Given the description of an element on the screen output the (x, y) to click on. 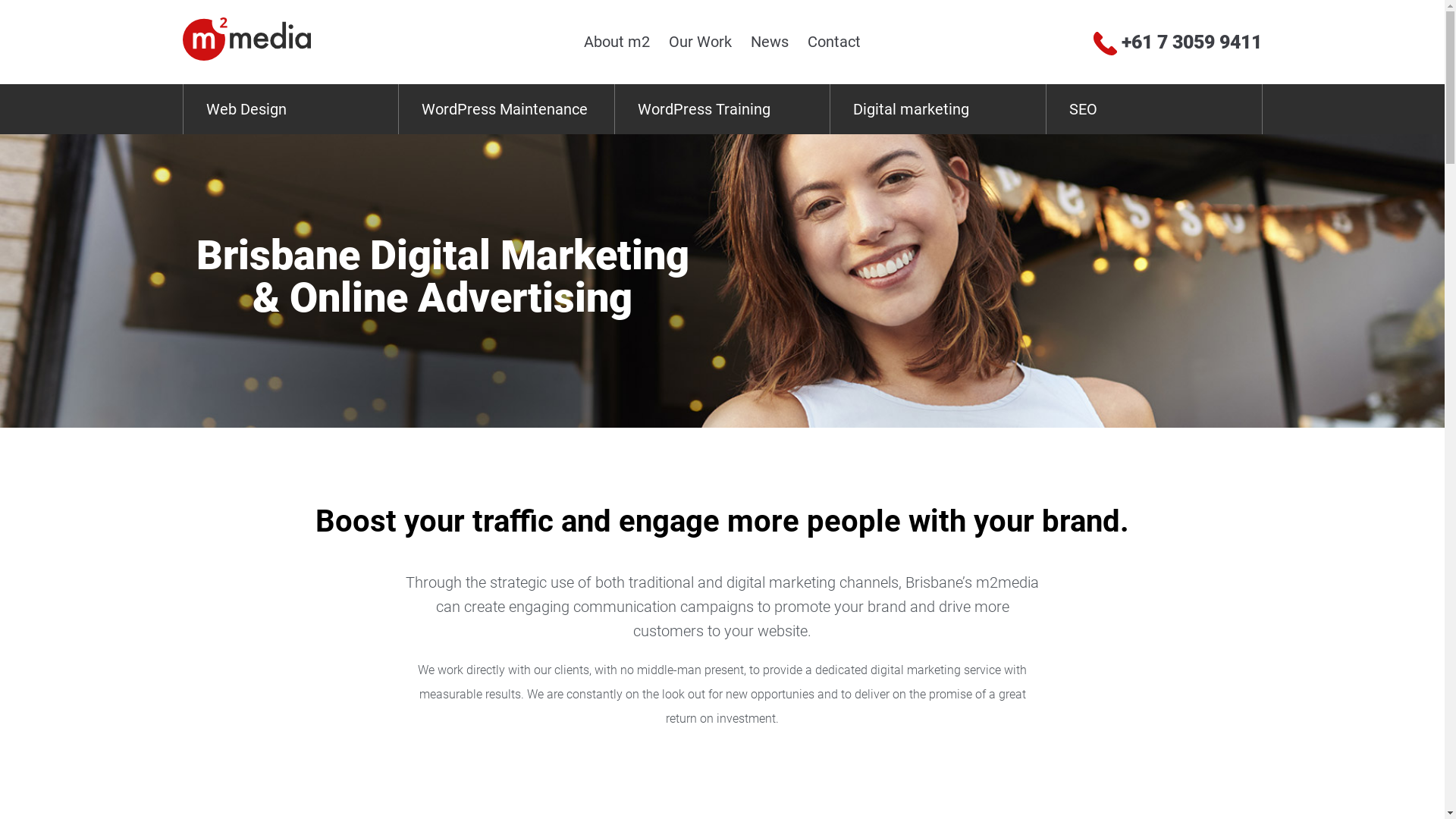
Digital marketing Element type: text (937, 109)
Web Design Element type: text (290, 109)
About m2 Element type: text (616, 41)
Contact Element type: text (834, 41)
WordPress Training Element type: text (722, 109)
News Element type: text (769, 41)
Our Work Element type: text (700, 41)
SEO Element type: text (1153, 109)
WordPress Maintenance Element type: text (506, 109)
+61 7 3059 9411 Element type: text (1177, 42)
